Given the description of an element on the screen output the (x, y) to click on. 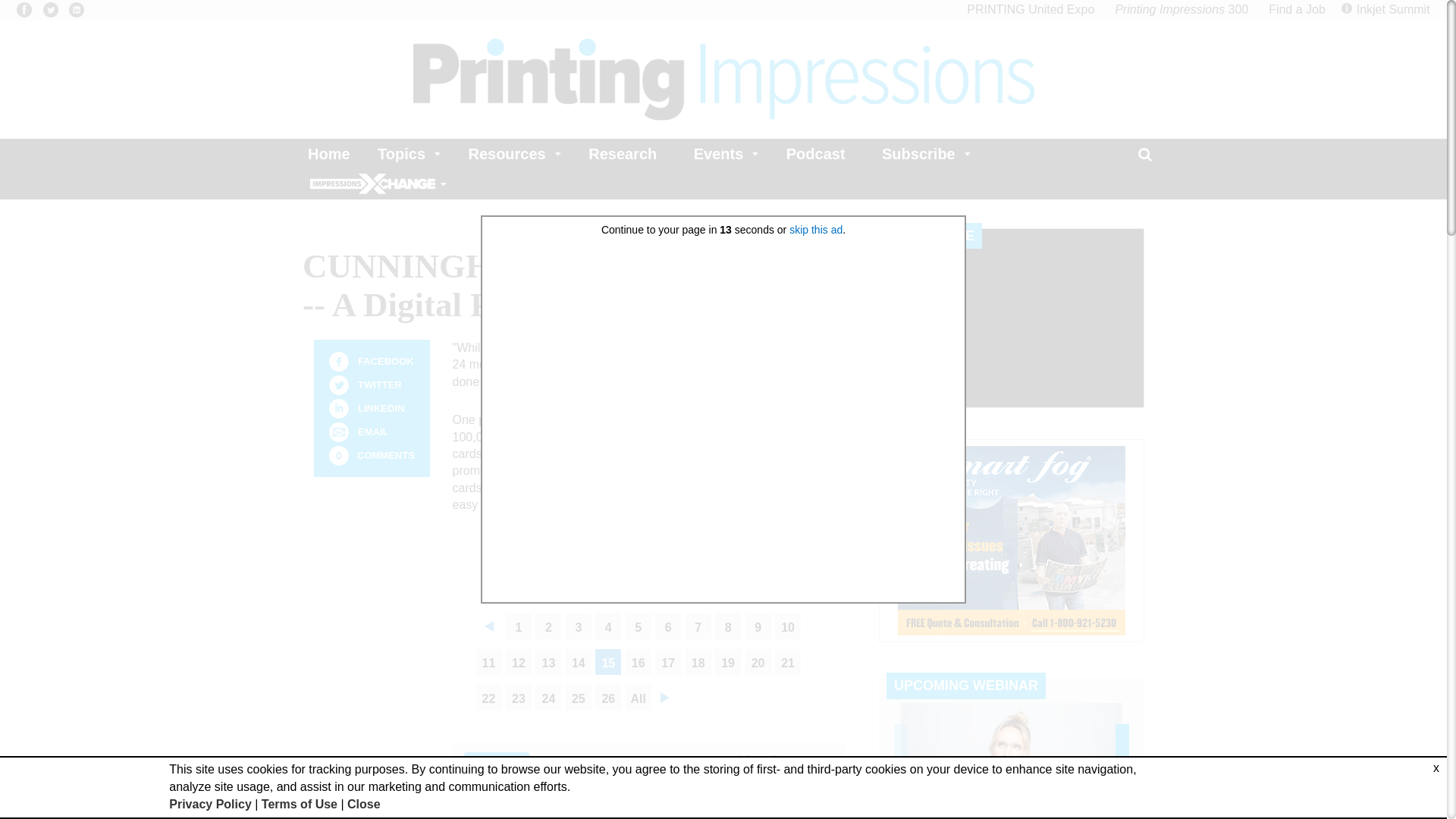
Opens in a new window (1181, 9)
3rd party ad content (1011, 540)
Facebook (339, 361)
Resources (509, 153)
Inkjet Summit (1387, 9)
Printing Impressions 300 (1181, 9)
Twitter (339, 384)
Email Link (339, 432)
Opens in a new window (50, 9)
Opens in a new window (76, 9)
